Given the description of an element on the screen output the (x, y) to click on. 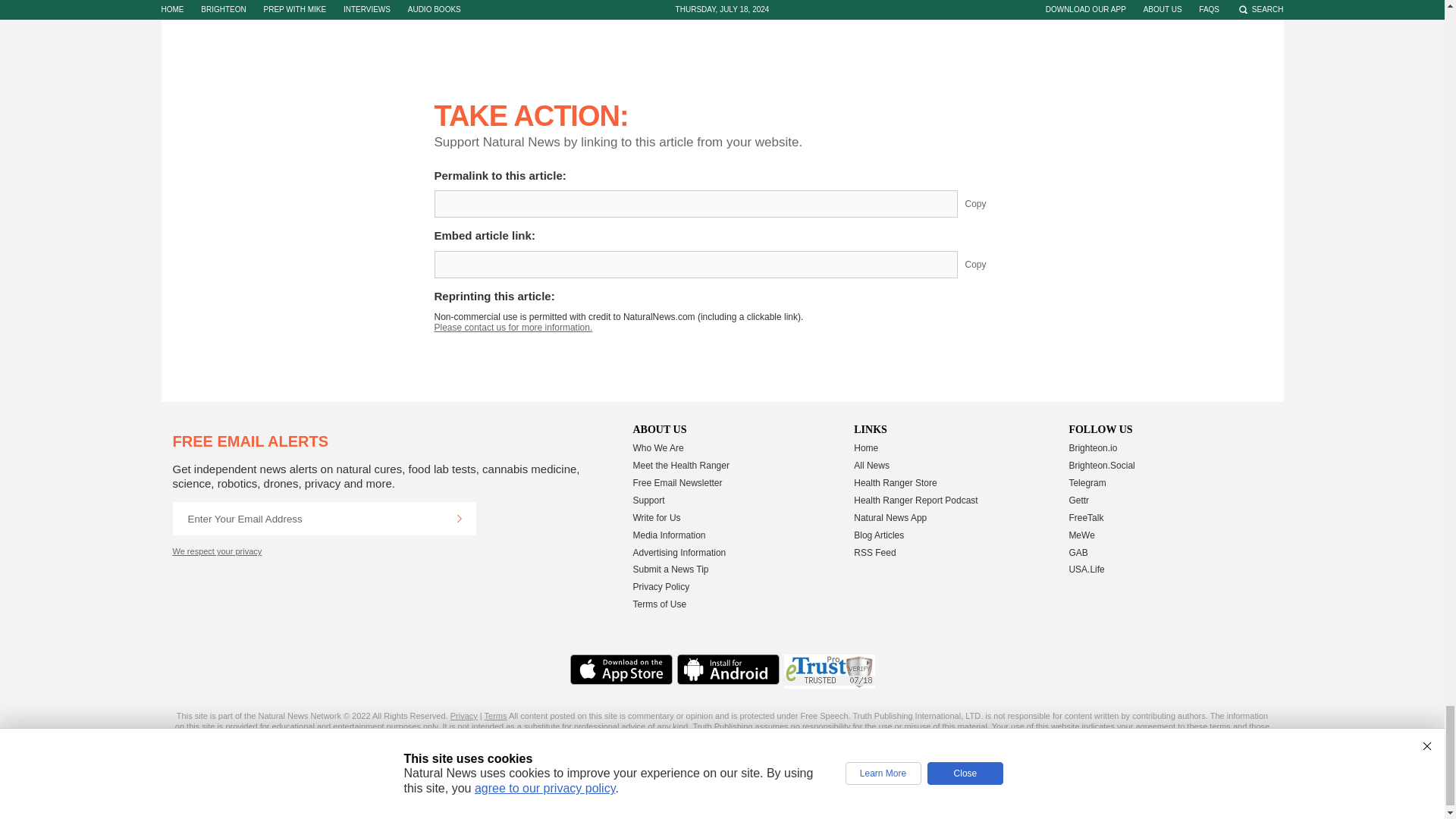
Continue (459, 518)
eTrust Pro Certified (829, 671)
Copy Embed Link (986, 264)
Copy Permalink (986, 203)
